Given the description of an element on the screen output the (x, y) to click on. 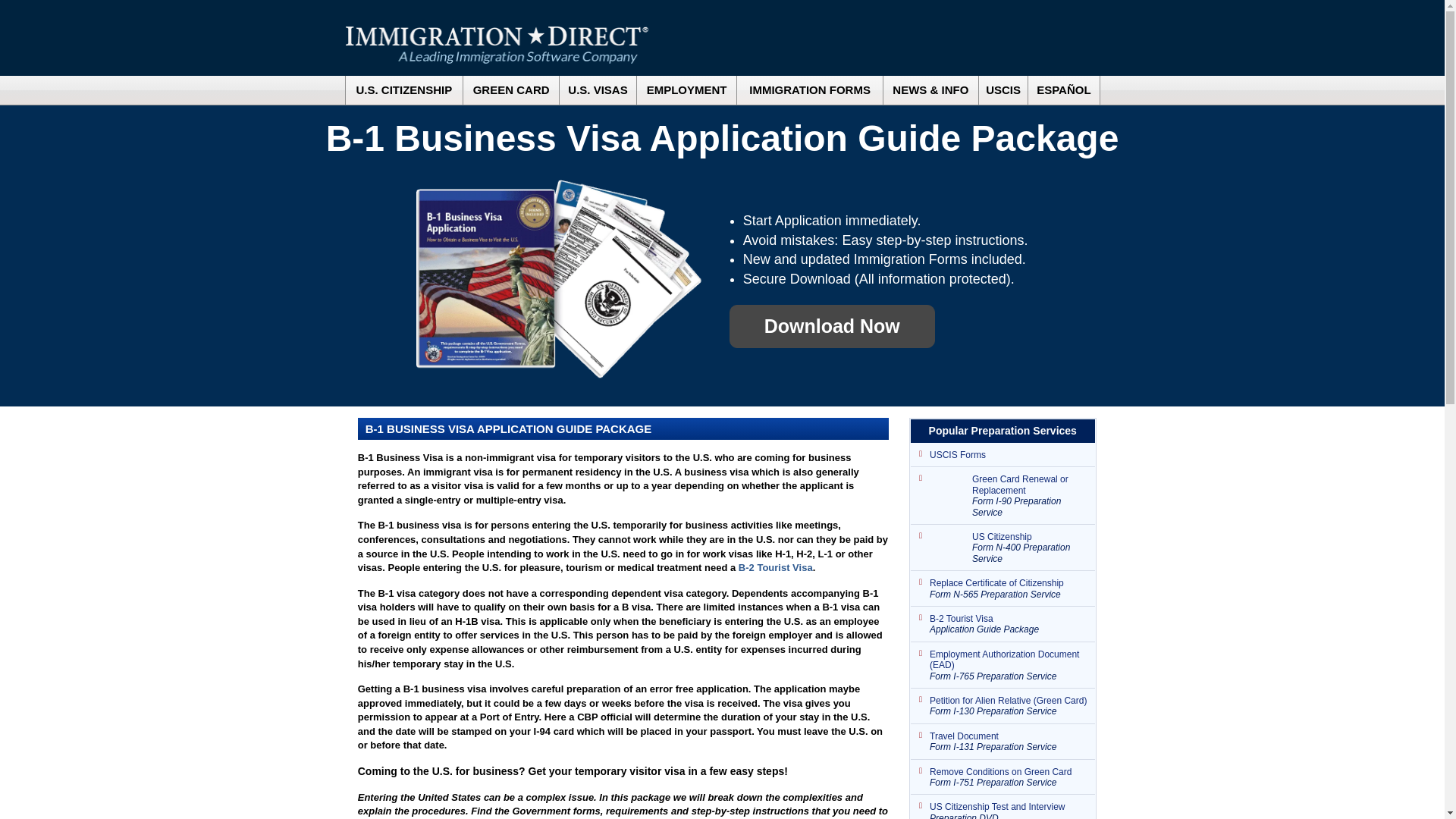
American Immigration (496, 44)
U.S. CITIZENSHIP (404, 90)
GREEN CARD (511, 90)
IMMIGRATION FORMS (809, 90)
U.S. VISAS (597, 90)
EMPLOYMENT (686, 90)
B-1 Business Visa Application Guide Package (560, 279)
